Given the description of an element on the screen output the (x, y) to click on. 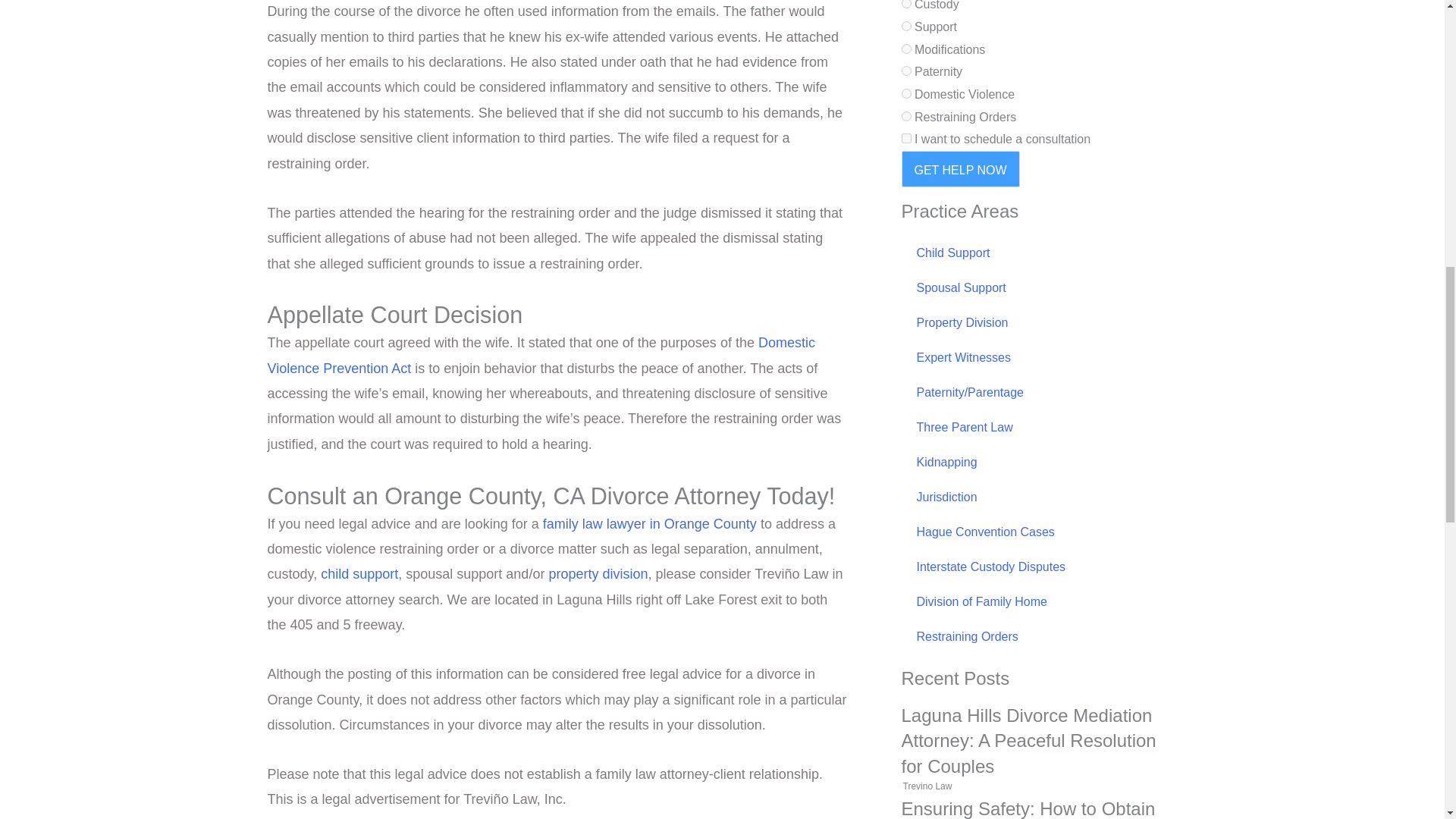
Paternity (906, 71)
Domestic Violence (906, 93)
Modifications (906, 49)
I want to schedule a consultation (906, 138)
Support (906, 26)
Restraining Orders (906, 116)
Posts by Trevino Law (927, 786)
Custody (906, 4)
